Given the description of an element on the screen output the (x, y) to click on. 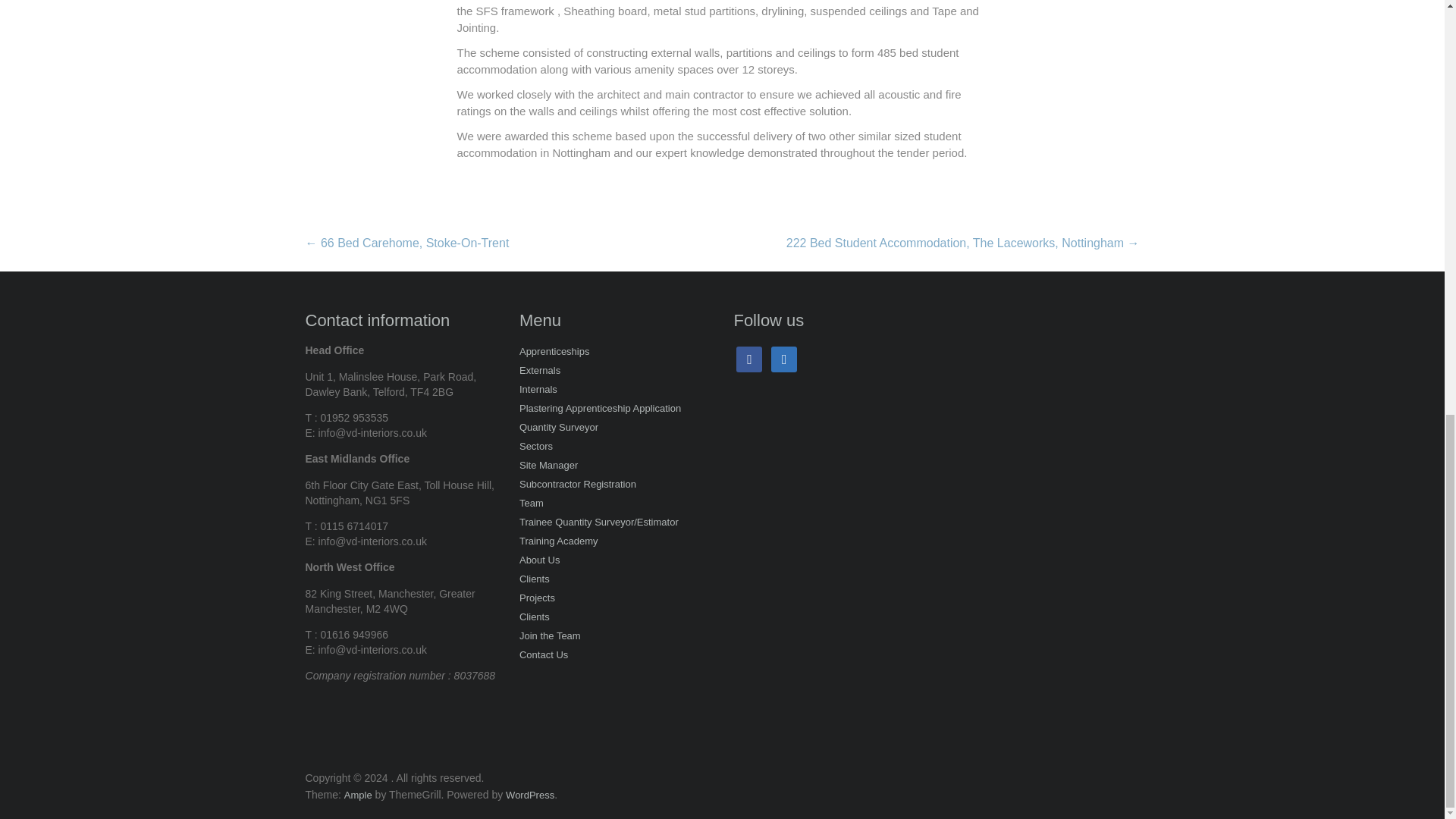
About Us (539, 561)
Facebook (748, 360)
Ample (357, 794)
Ample (357, 794)
WordPress (529, 794)
Subcontractor Registration (577, 485)
Externals (539, 371)
Clients (534, 579)
Clients (534, 618)
facebook (748, 360)
